Given the description of an element on the screen output the (x, y) to click on. 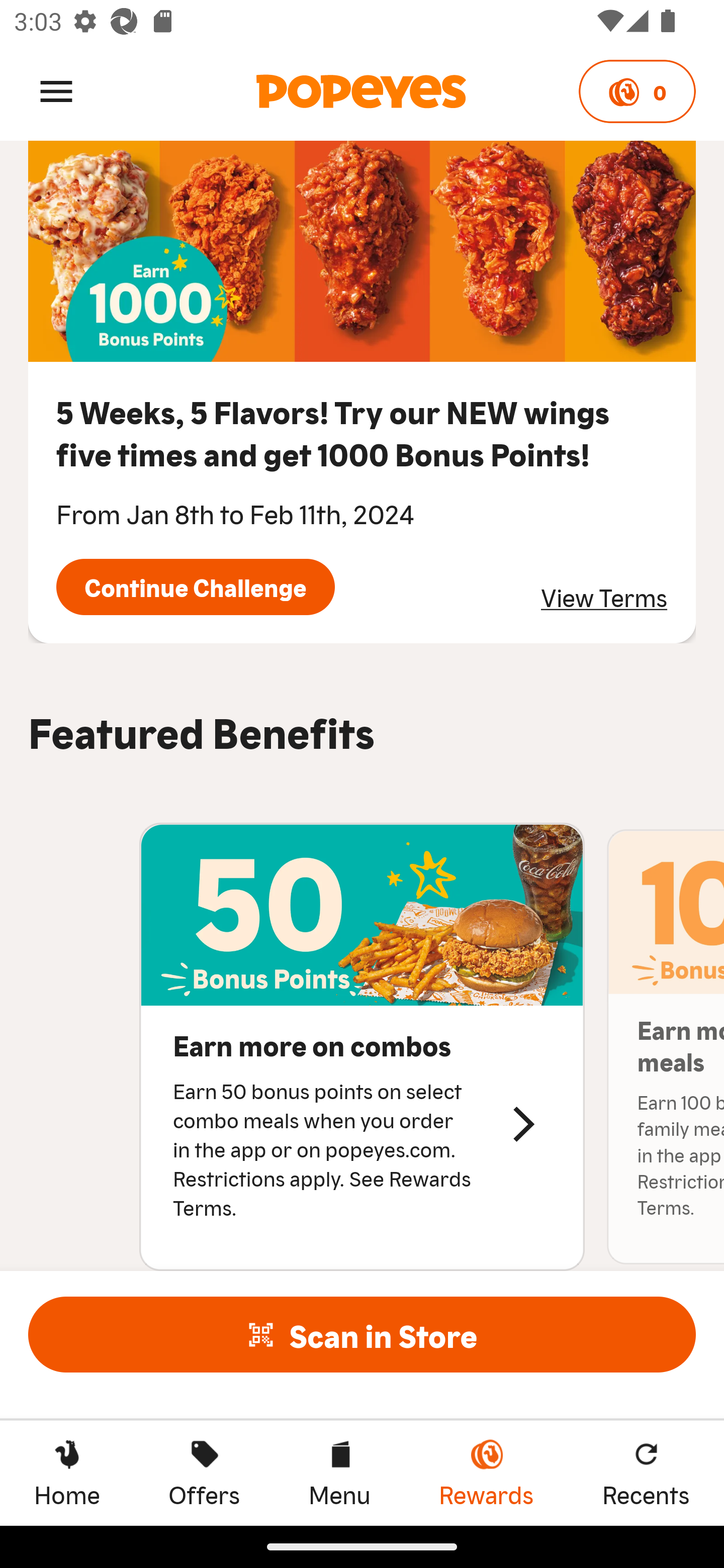
Menu  (56, 90)
0 Points 0 (636, 91)
quest image (361, 251)
Continue Challenge (195, 586)
View Terms (603, 596)
Scan in Store  Scan in Store (361, 1334)
Home Home Home (66, 1472)
Offers Offers Offers (203, 1472)
Menu Menu Menu (339, 1472)
Recents Recents Recents (646, 1472)
